Given the description of an element on the screen output the (x, y) to click on. 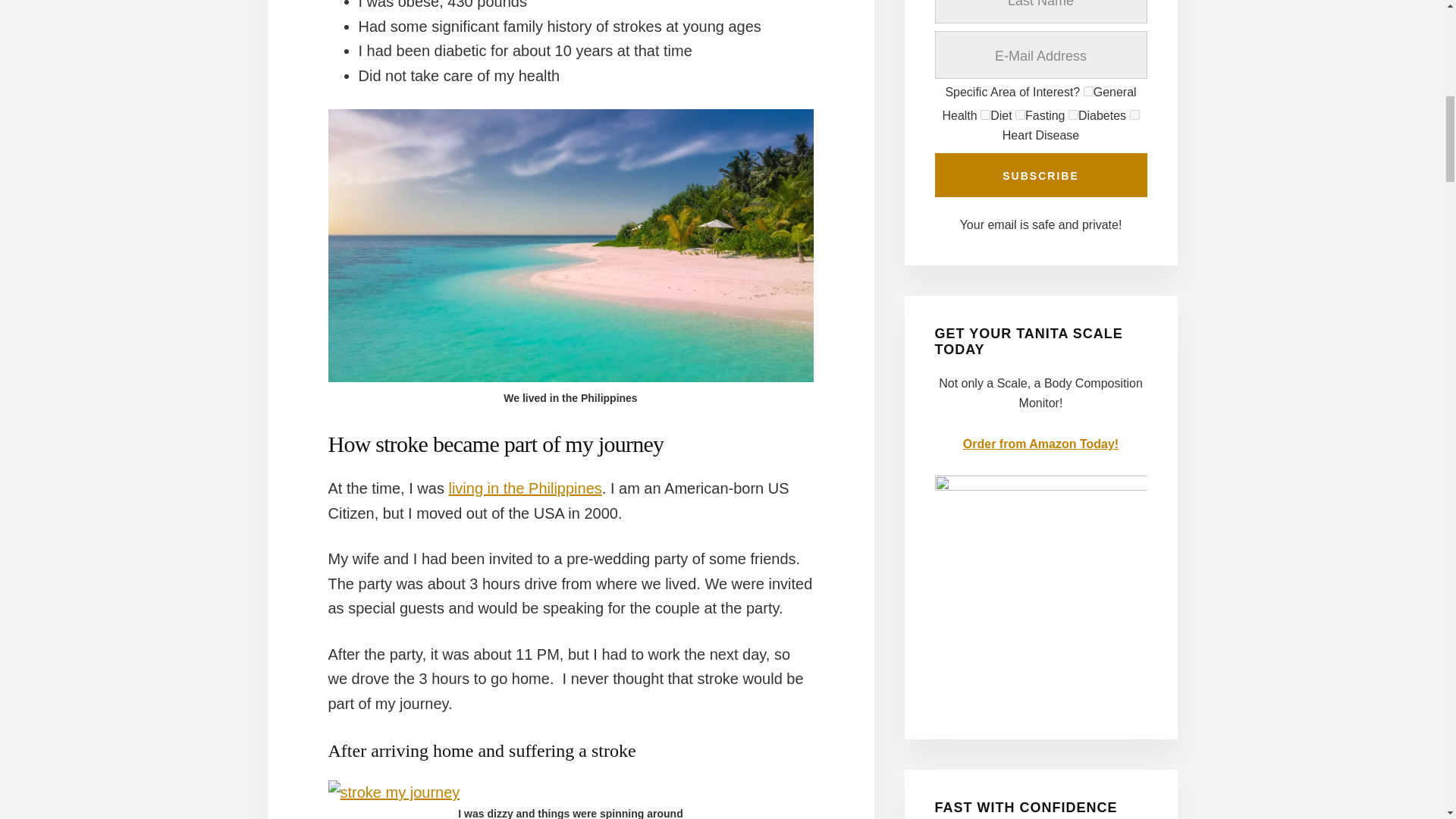
4 (1019, 114)
1 (1088, 91)
2 (984, 114)
Order from Amazon Today! (1040, 443)
16 (1134, 114)
8 (1073, 114)
Subscribe (1040, 175)
living in the Philippines (524, 487)
Subscribe (1040, 175)
